Given the description of an element on the screen output the (x, y) to click on. 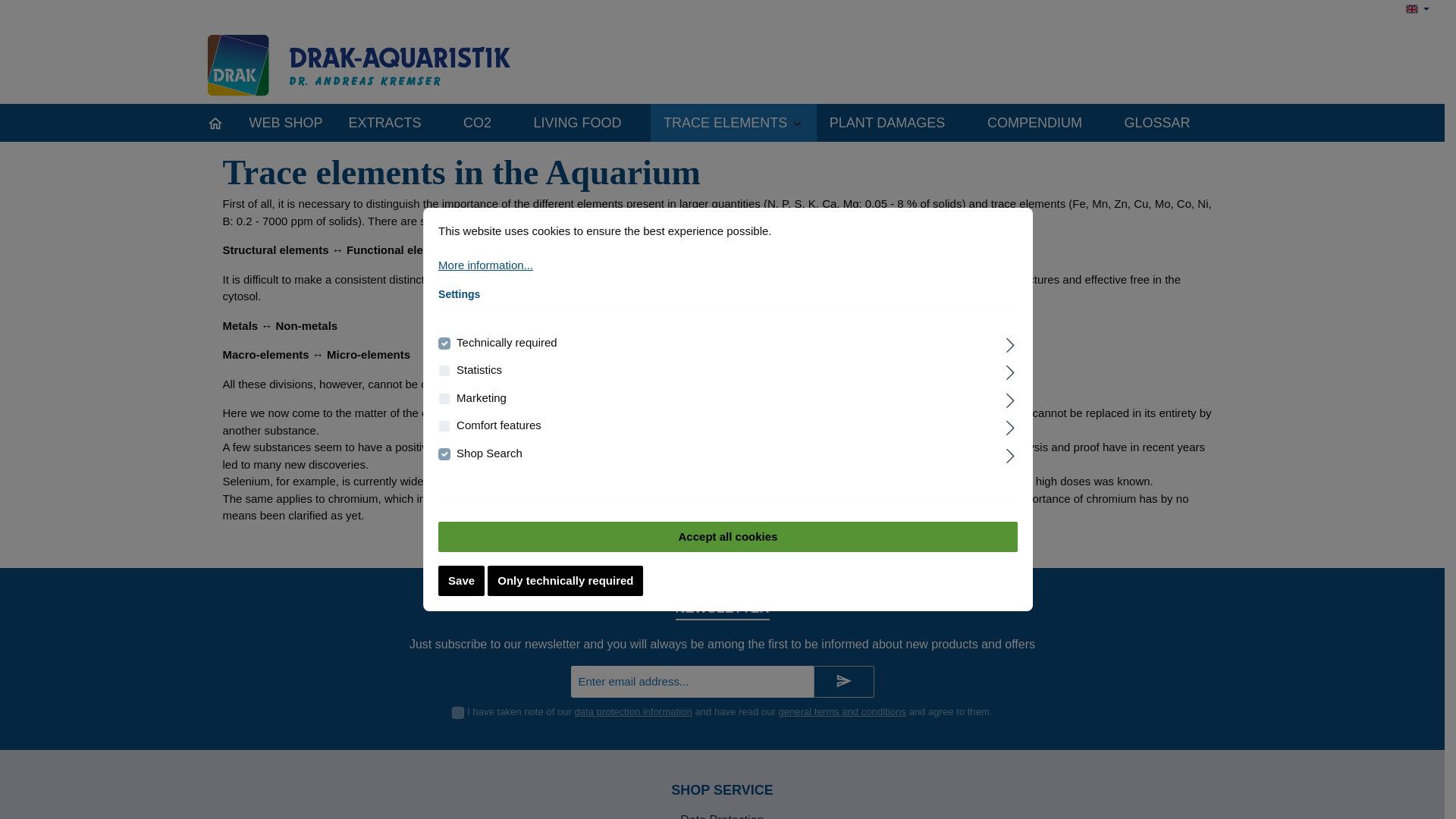
on (457, 712)
Trace Elements (733, 122)
on (443, 426)
on (443, 453)
Go to homepage (373, 63)
on (443, 398)
GLOSSAR (1165, 122)
CO2 (485, 122)
Glossar (1165, 122)
WEB SHOP (285, 122)
LIVING FOOD (585, 122)
CO2 (485, 122)
Living food (585, 122)
PLANT DAMAGES (895, 122)
Web shop (285, 122)
